Given the description of an element on the screen output the (x, y) to click on. 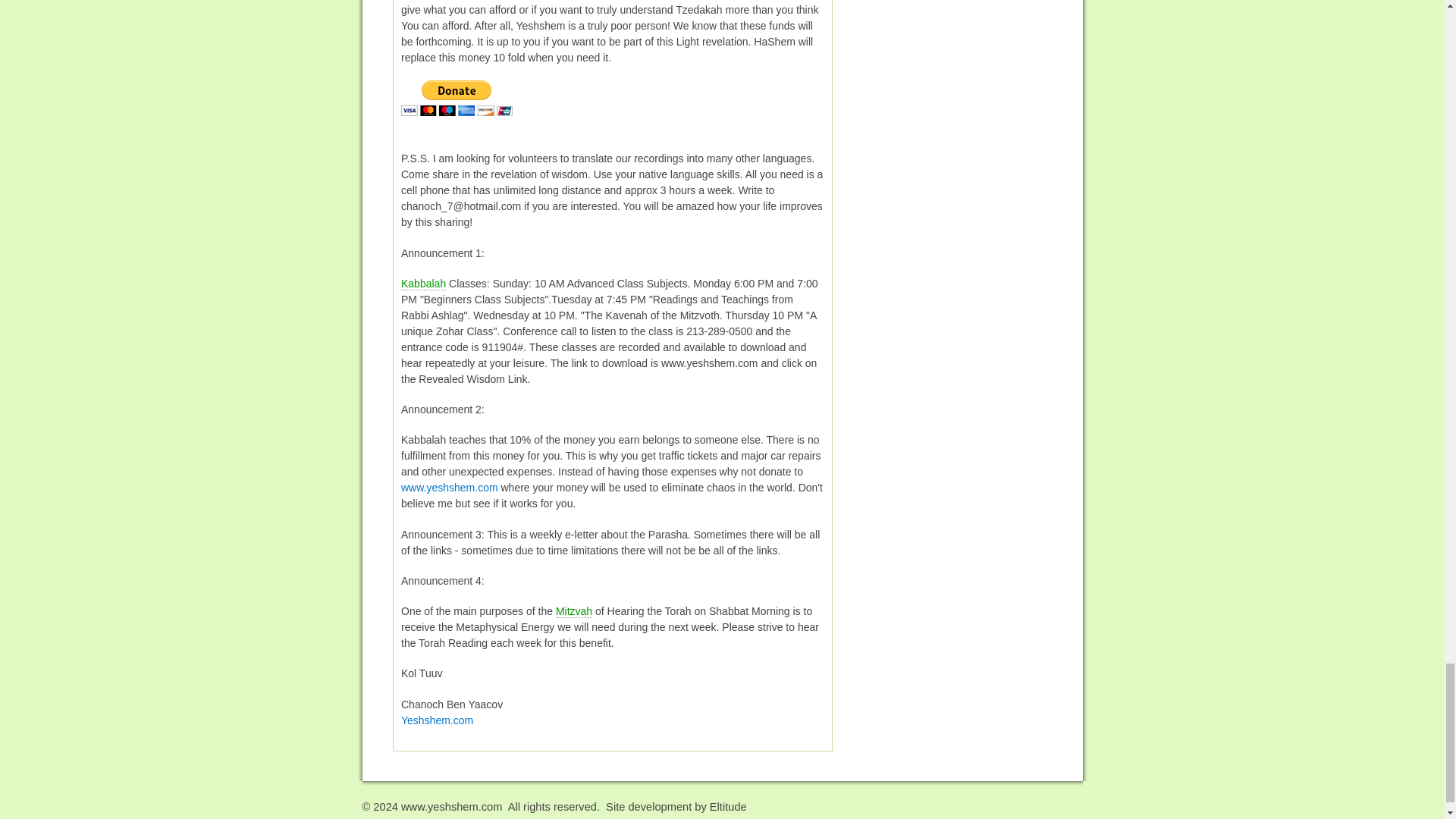
Yeshshem.com (437, 720)
www.yeshshem.com (449, 487)
